Given the description of an element on the screen output the (x, y) to click on. 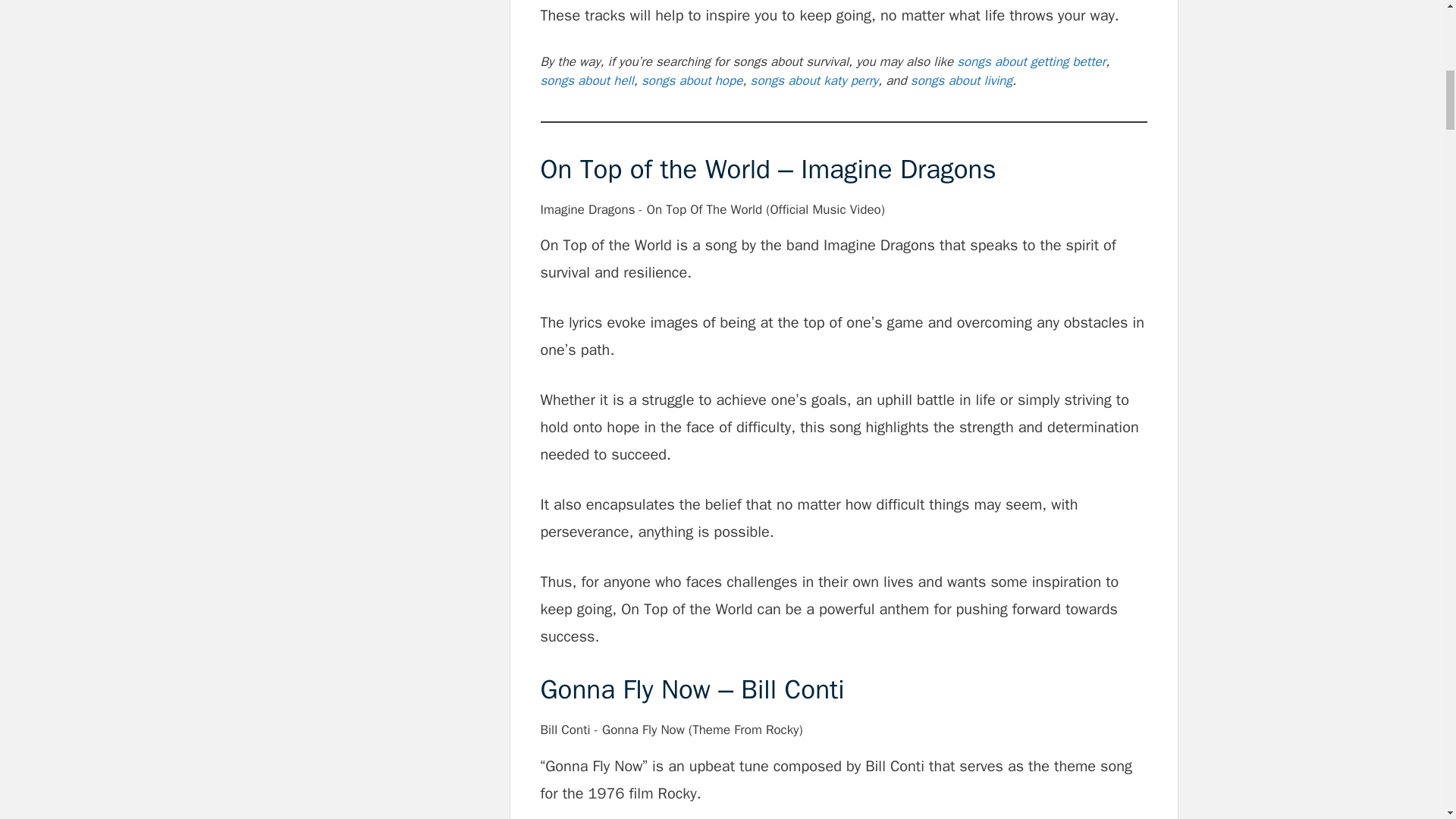
songs about hope (692, 80)
songs about hell (586, 80)
songs about getting better (1030, 61)
